Given the description of an element on the screen output the (x, y) to click on. 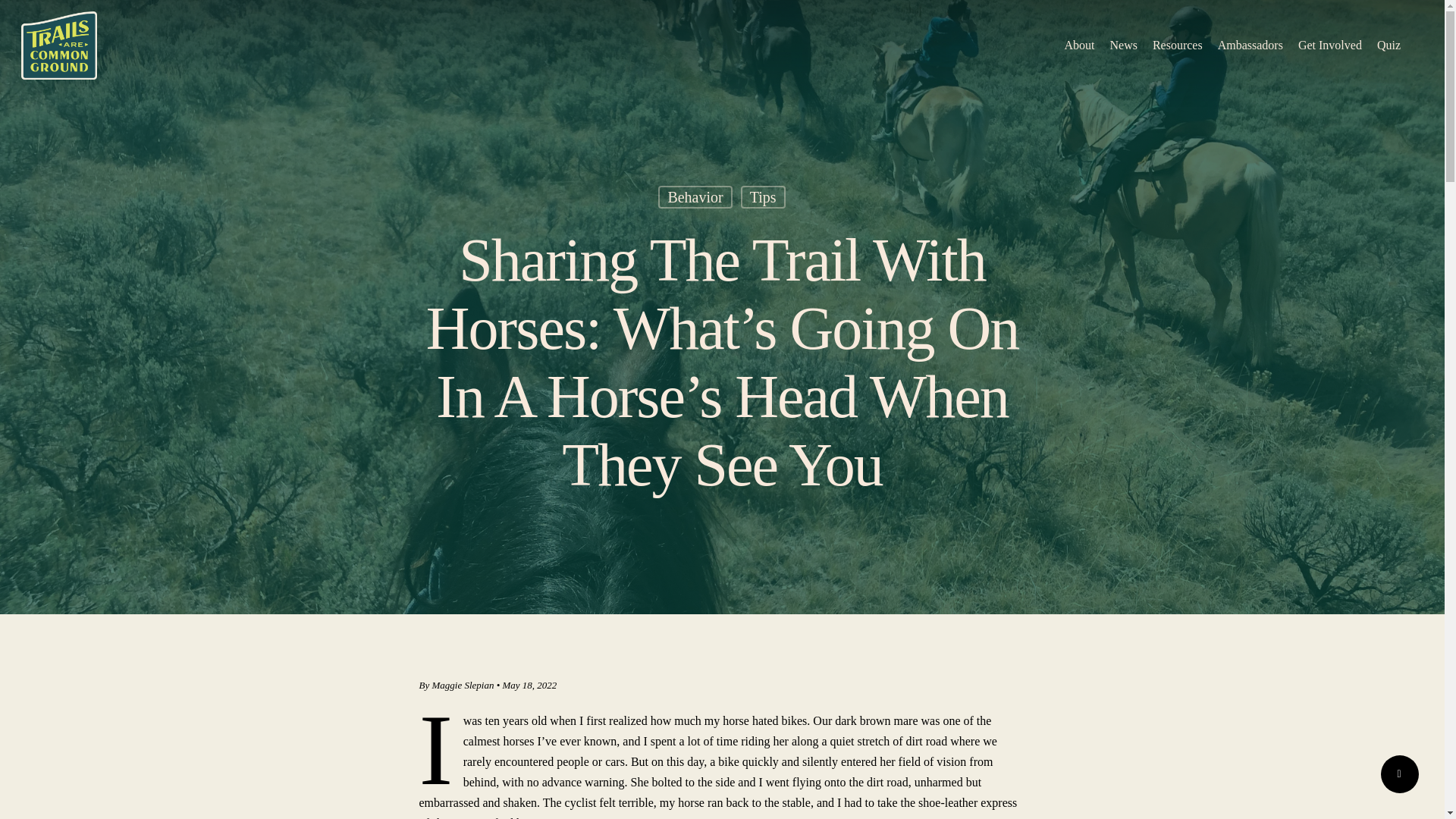
Ambassadors (1249, 45)
Quiz (1388, 45)
News (1123, 45)
Get Involved (1329, 45)
Tips (763, 207)
About (1079, 45)
Behavior (695, 208)
Resources (1177, 45)
